Given the description of an element on the screen output the (x, y) to click on. 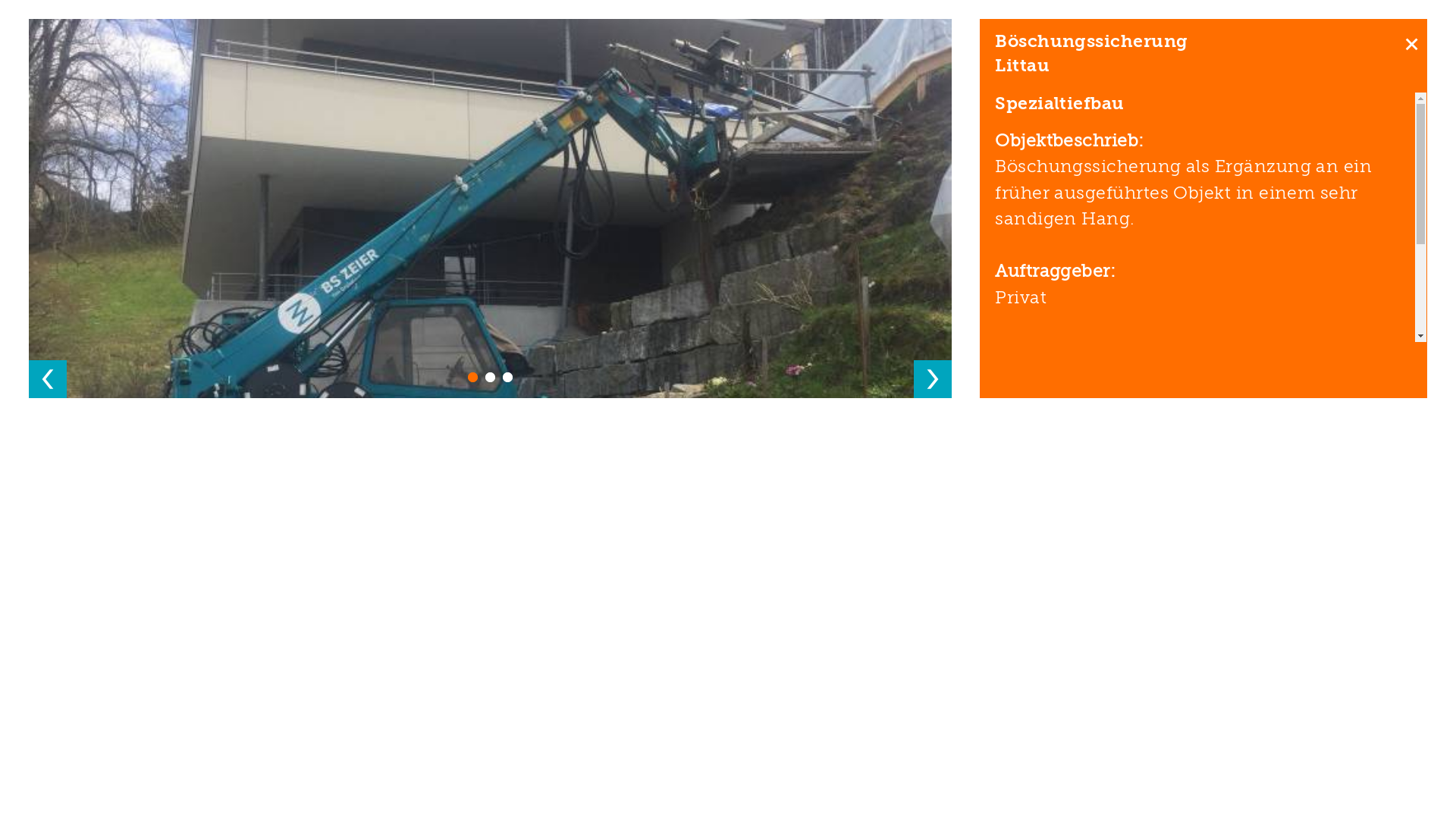
1 Element type: text (472, 376)
2 Element type: text (490, 376)
3 Element type: text (507, 376)
